Given the description of an element on the screen output the (x, y) to click on. 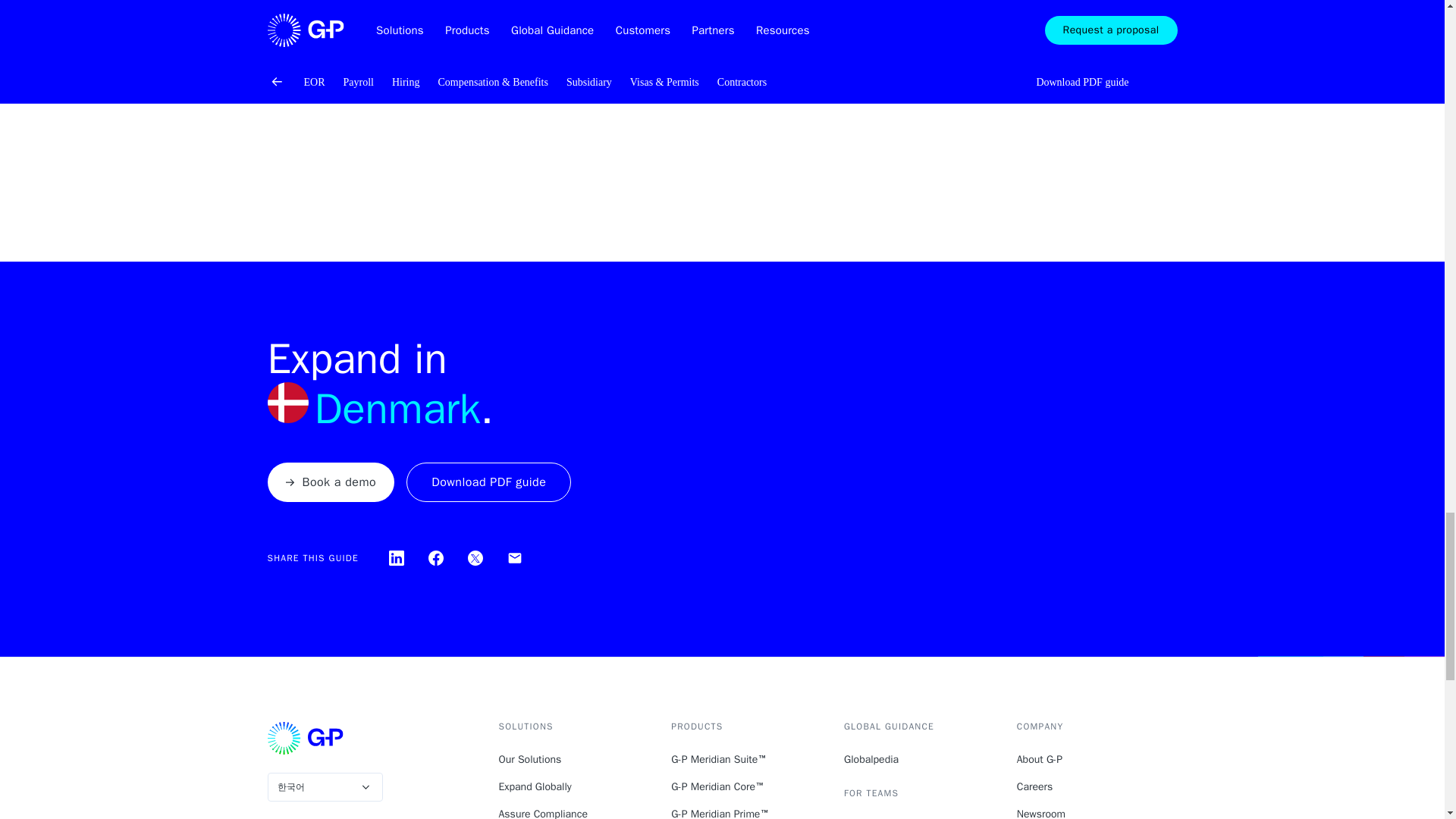
Book a demo (330, 482)
